Given the description of an element on the screen output the (x, y) to click on. 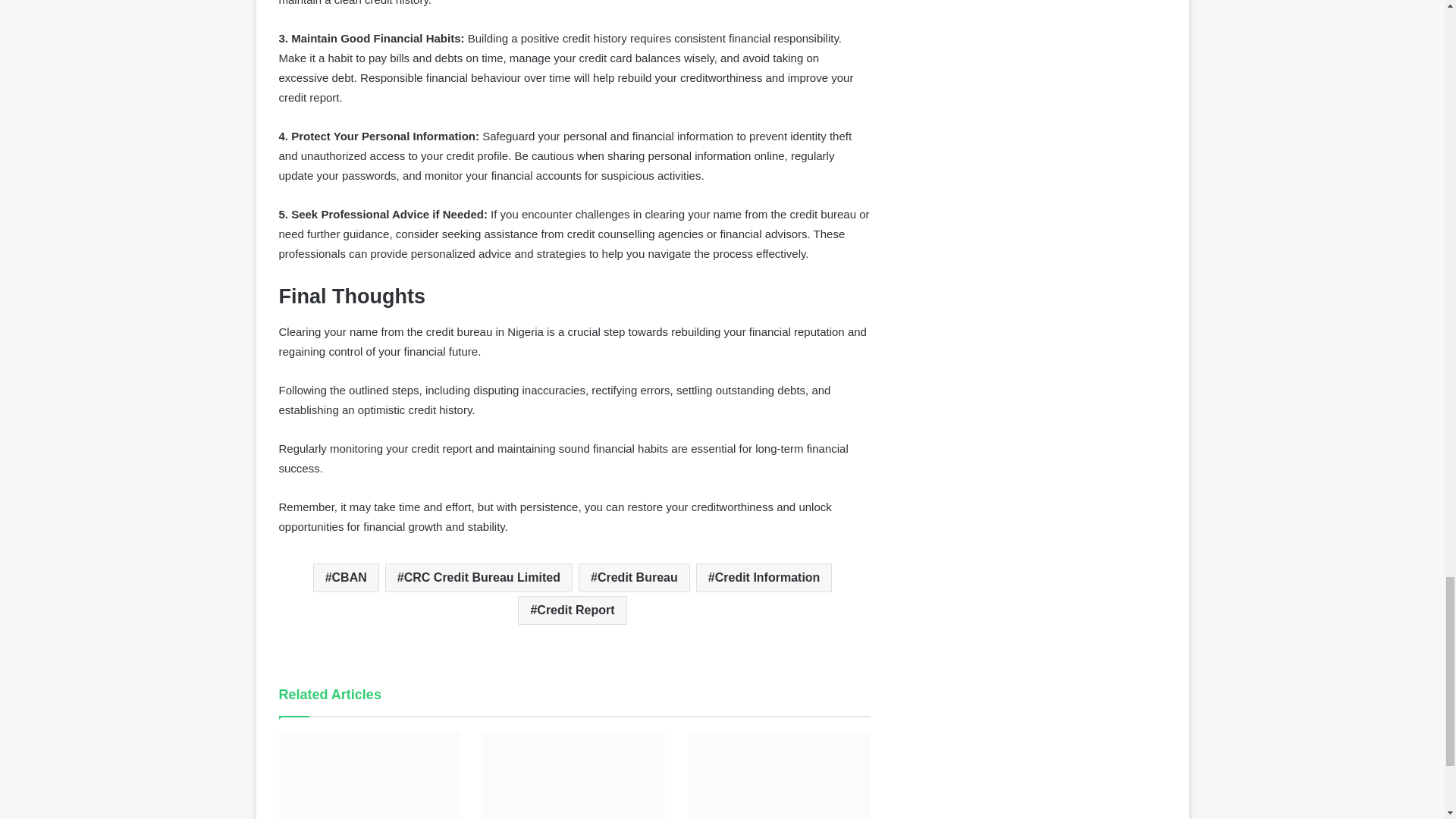
CRC Credit Bureau Limited (478, 577)
CBAN (345, 577)
How to Check Access Bank Account Balance, Number and Bvn 2 (574, 775)
